Given the description of an element on the screen output the (x, y) to click on. 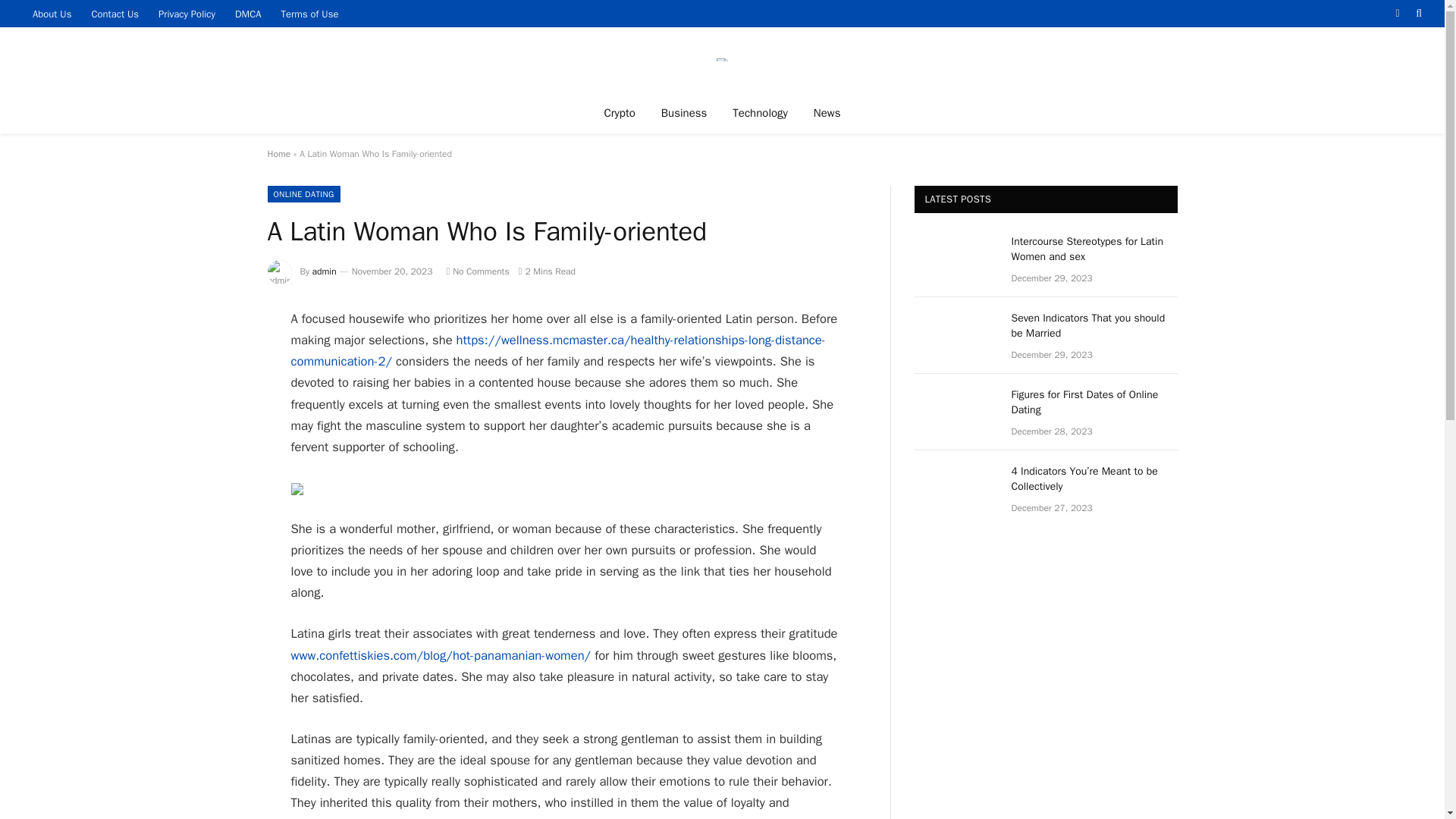
Technology (759, 112)
Posts by admin (324, 271)
admin (324, 271)
Seven Indicators That you should be Married (1094, 326)
Terms of Use (309, 13)
Intercourse Stereotypes for Latin Women and sex (1094, 249)
ONLINE DATING (302, 193)
Crypto (619, 112)
Switch to Dark Design - easier on eyes. (1397, 13)
No Comments (476, 271)
